Given the description of an element on the screen output the (x, y) to click on. 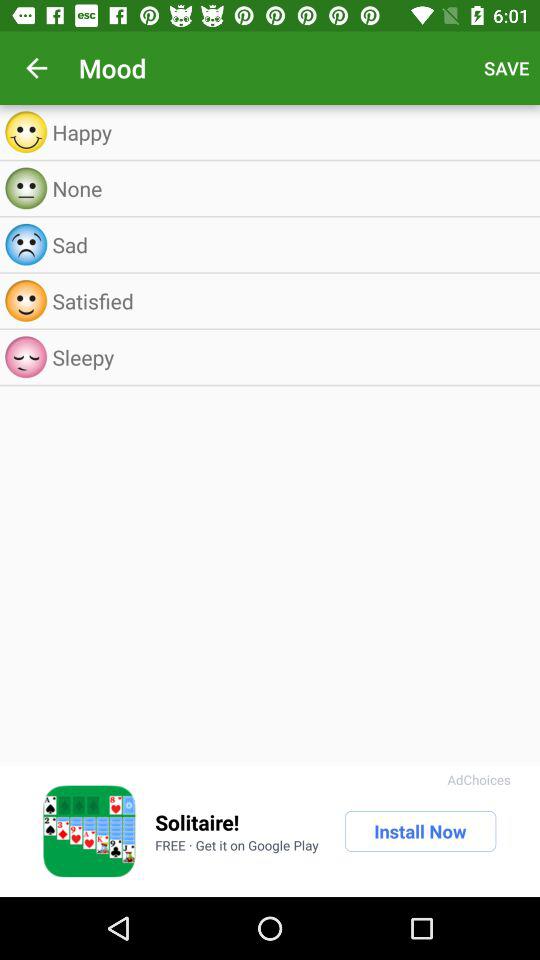
choose the item to the right of the free get it (420, 831)
